Given the description of an element on the screen output the (x, y) to click on. 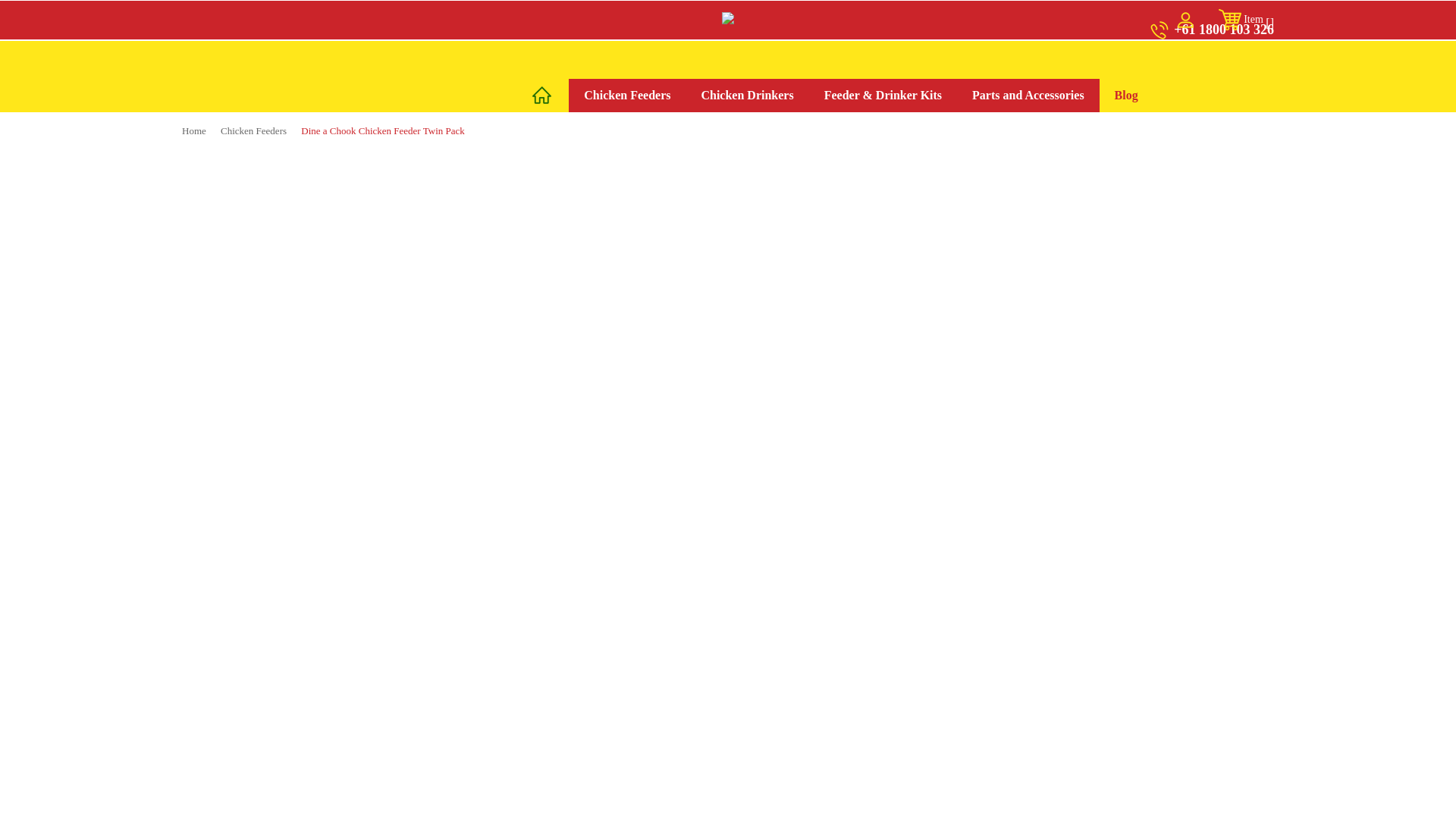
Dine a Chook USA (727, 18)
Chicken Drinkers (746, 95)
Parts and Accessories (1027, 95)
Blog (1126, 95)
Home (194, 130)
Dine a Chook Chicken Feeder Twin Pack (382, 130)
Contact Us (1198, 65)
Chicken Feeders (253, 130)
Chicken Feeders (627, 95)
